Given the description of an element on the screen output the (x, y) to click on. 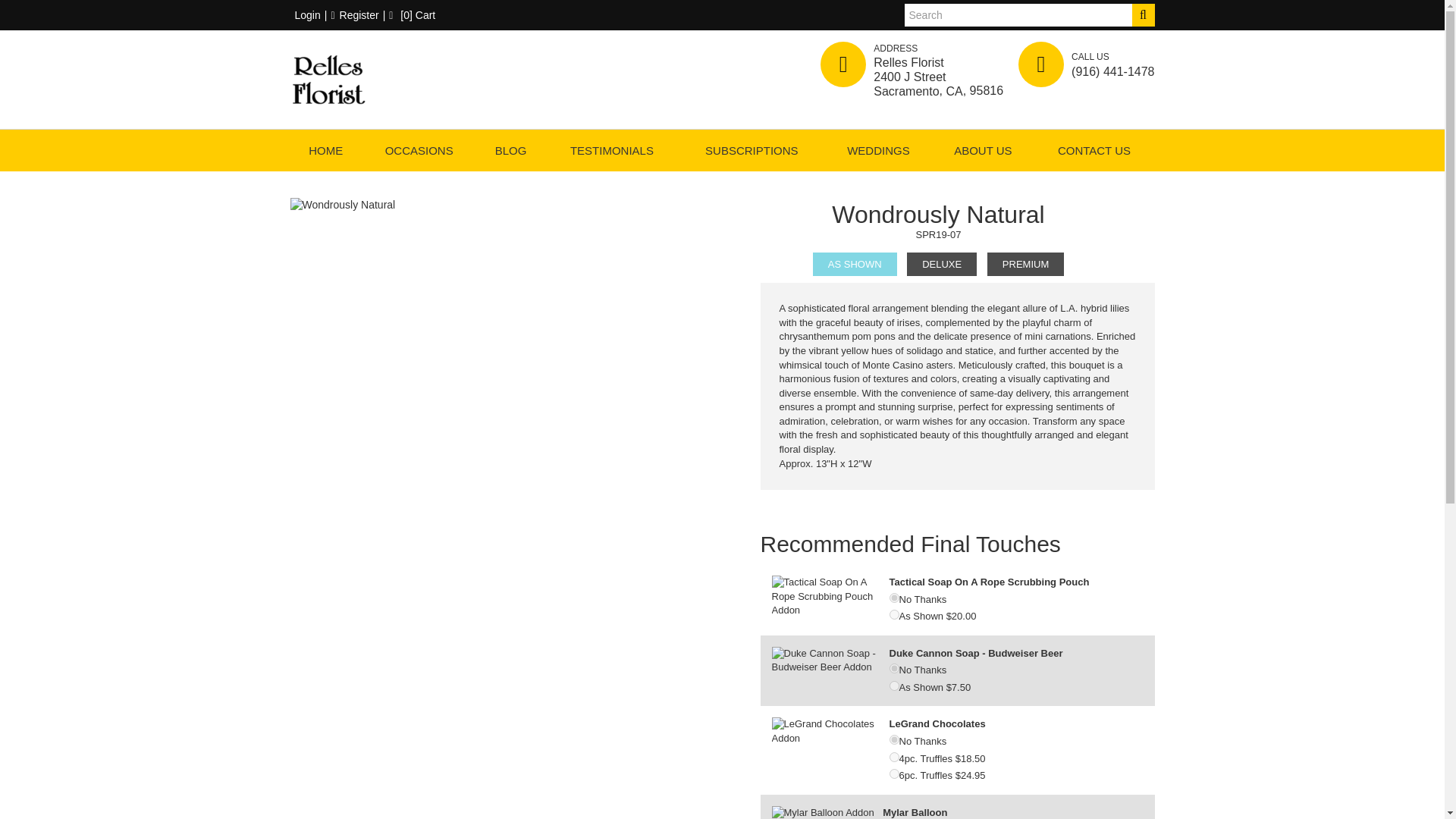
TESTIMONIALS (611, 150)
BLOG (510, 150)
OCCASIONS (418, 150)
2 (893, 773)
HOME (325, 150)
1 (893, 757)
ABOUT US (982, 150)
AS SHOWN (854, 264)
PREMIUM (1025, 264)
DELUXE (941, 264)
0 (893, 739)
1 (893, 614)
WEDDINGS (879, 150)
0 (893, 668)
0 (893, 597)
